Given the description of an element on the screen output the (x, y) to click on. 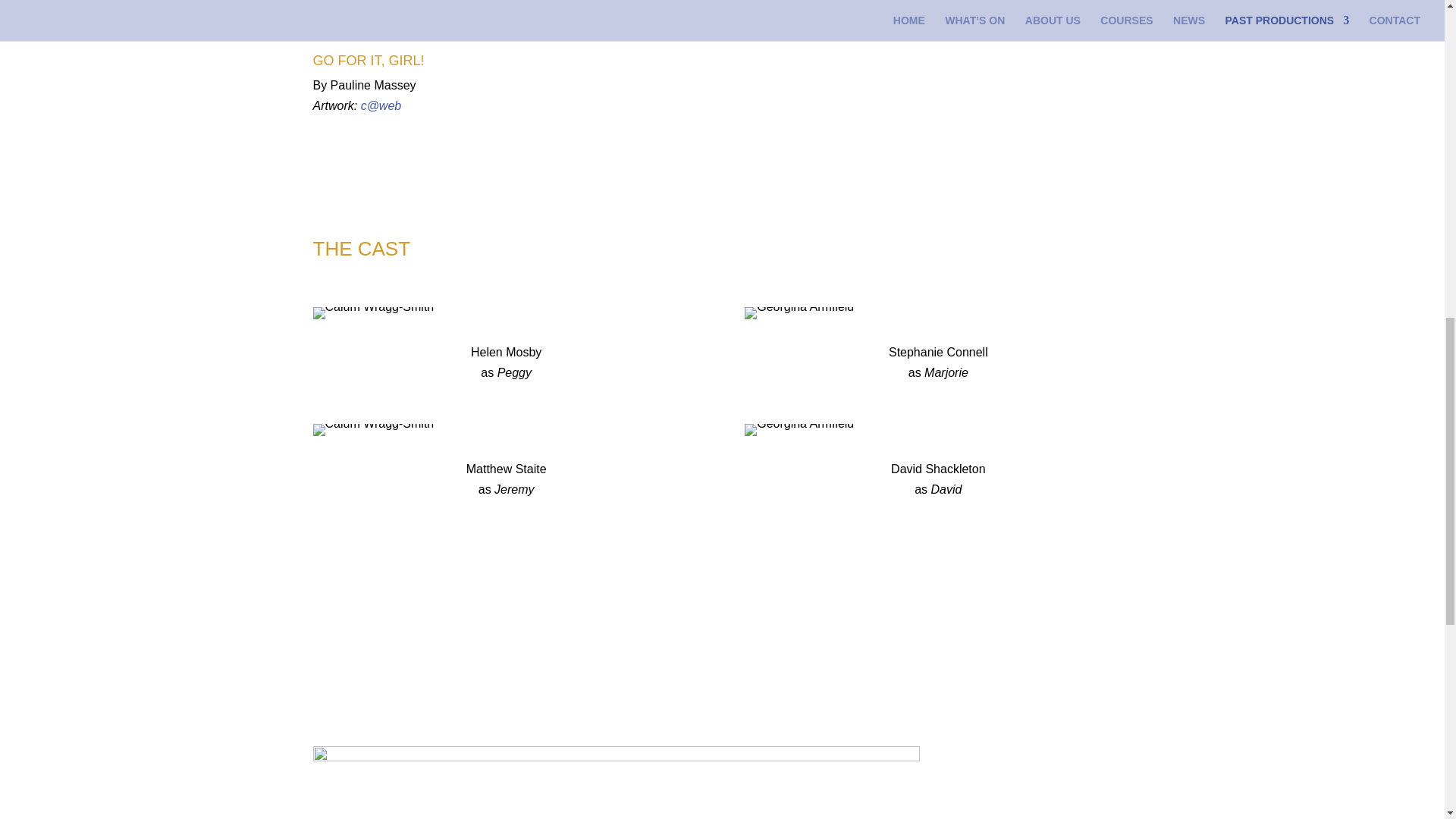
sc 2 (798, 313)
david shackleton (798, 429)
Helen (373, 313)
matt staite (373, 429)
